Given the description of an element on the screen output the (x, y) to click on. 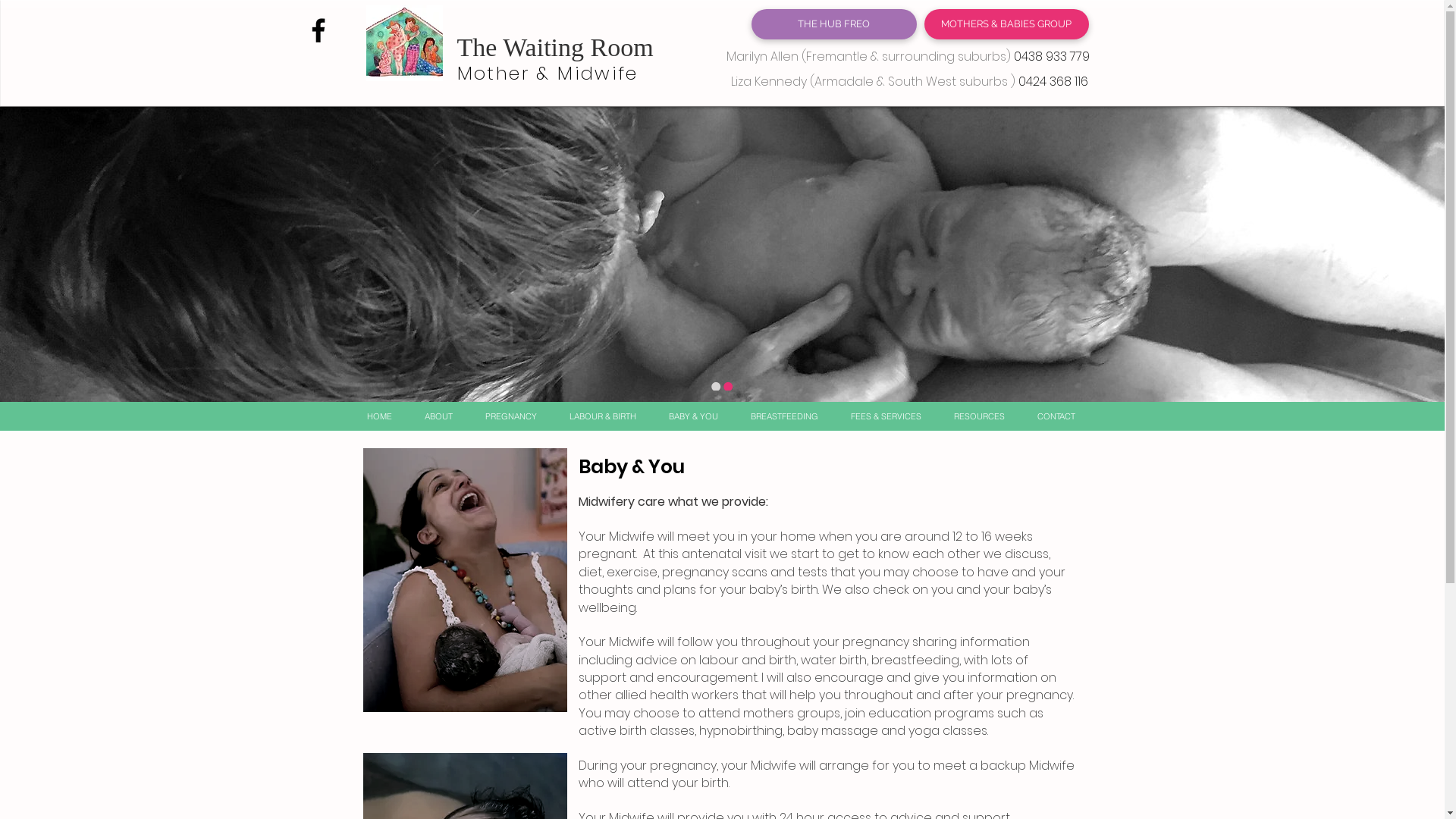
MOTHERS & BABIES GROUP Element type: text (1005, 24)
THE HUB FREO Element type: text (833, 24)
BABY & YOU Element type: text (693, 415)
PREGNANCY Element type: text (510, 415)
BREASTFEEDING Element type: text (784, 415)
ABOUT Element type: text (437, 415)
RESOURCES Element type: text (978, 415)
birth.jpg Element type: hover (464, 580)
FEES & SERVICES Element type: text (885, 415)
CONTACT Element type: text (1055, 415)
HOME Element type: text (378, 415)
